Given the description of an element on the screen output the (x, y) to click on. 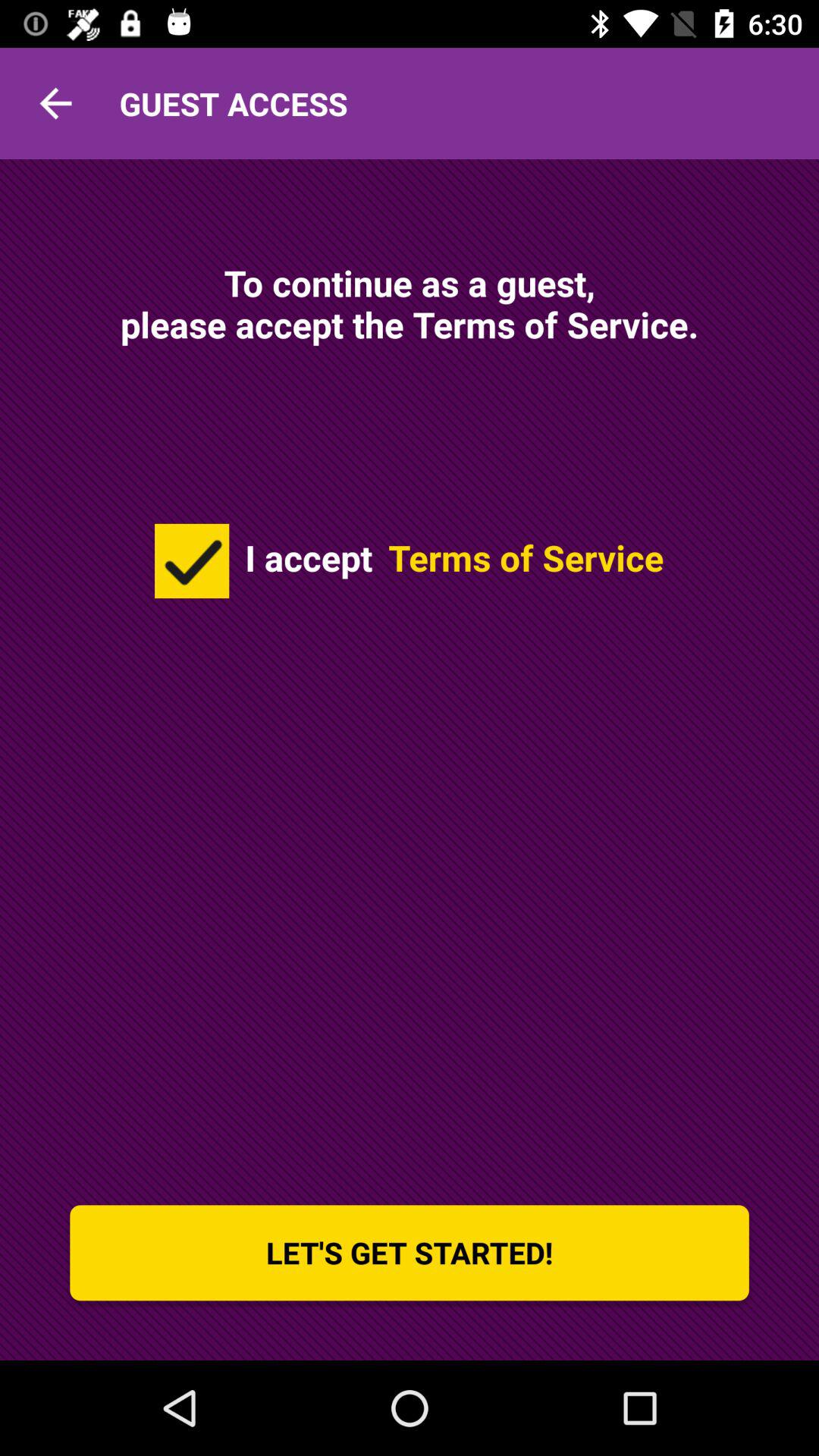
tap icon below to continue as item (191, 560)
